Given the description of an element on the screen output the (x, y) to click on. 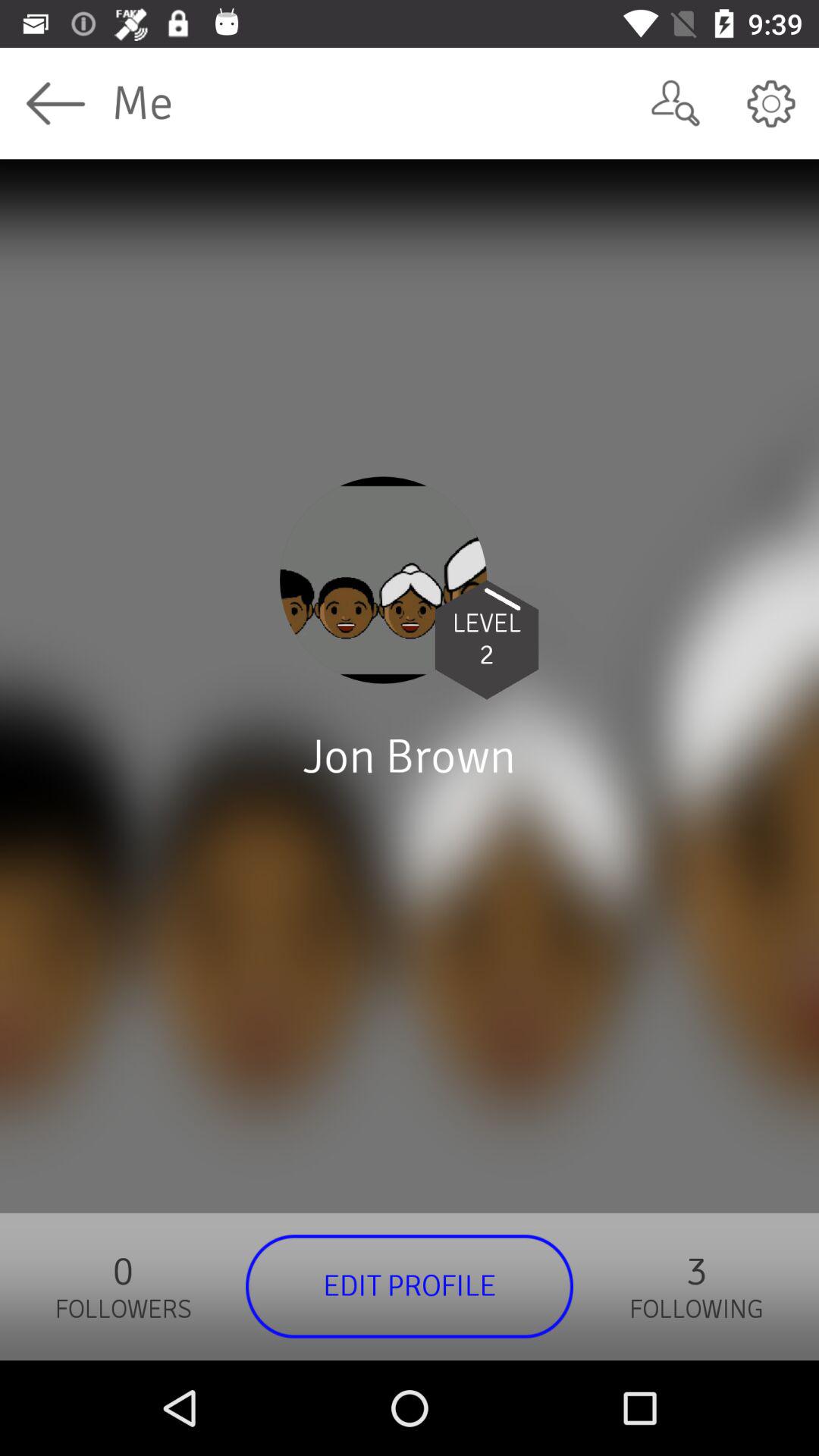
tap the app next to the 0 item (409, 1286)
